Given the description of an element on the screen output the (x, y) to click on. 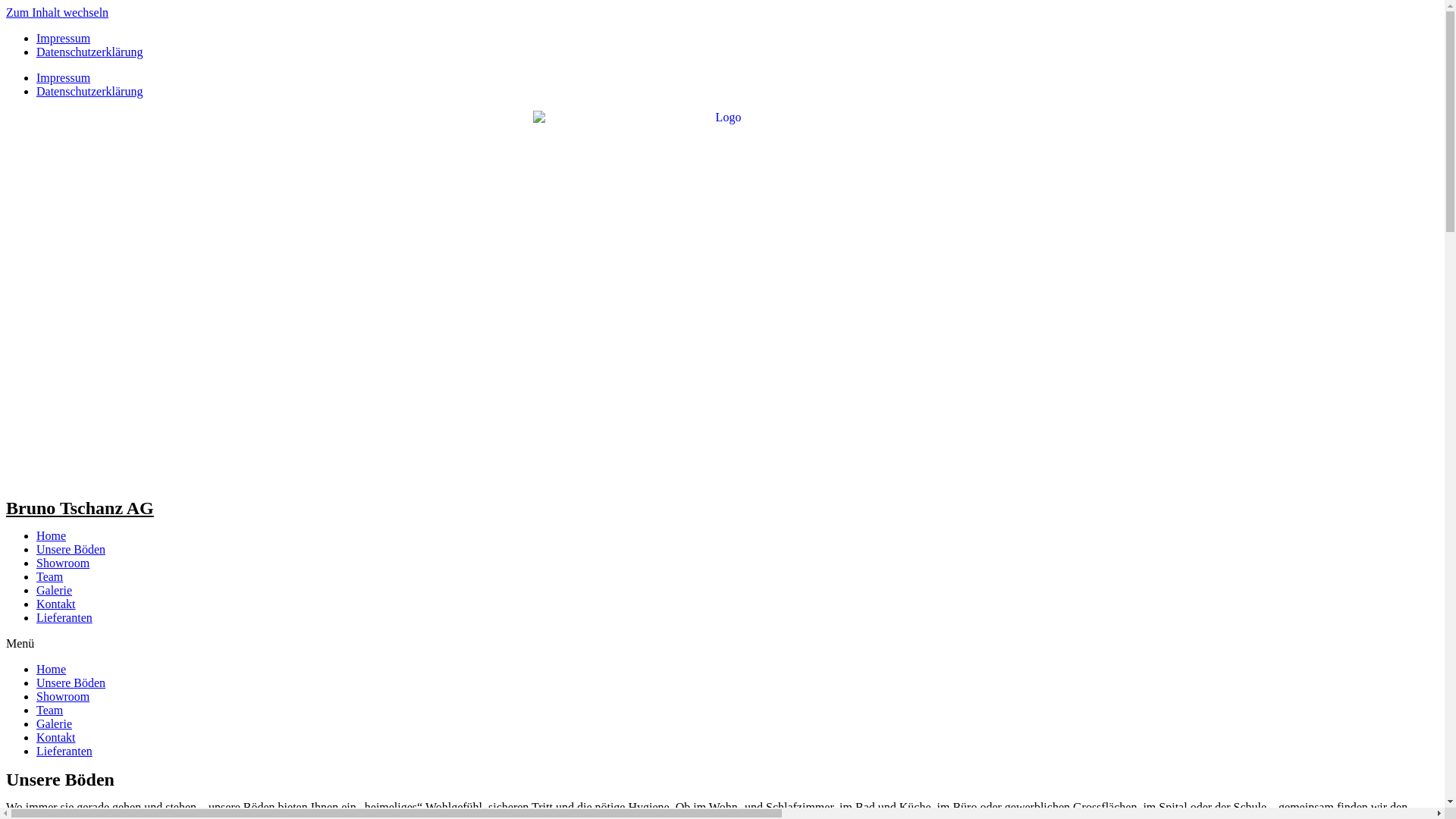
Galerie Element type: text (54, 589)
Galerie Element type: text (54, 723)
Team Element type: text (49, 709)
Bruno Tschanz AG Element type: text (79, 507)
Home Element type: text (50, 668)
Lieferanten Element type: text (64, 617)
Zum Inhalt wechseln Element type: text (57, 12)
Kontakt Element type: text (55, 603)
Impressum Element type: text (63, 37)
Impressum Element type: text (63, 77)
Showroom Element type: text (62, 696)
Lieferanten Element type: text (64, 750)
Kontakt Element type: text (55, 737)
Home Element type: text (50, 535)
Team Element type: text (49, 576)
Showroom Element type: text (62, 562)
